Given the description of an element on the screen output the (x, y) to click on. 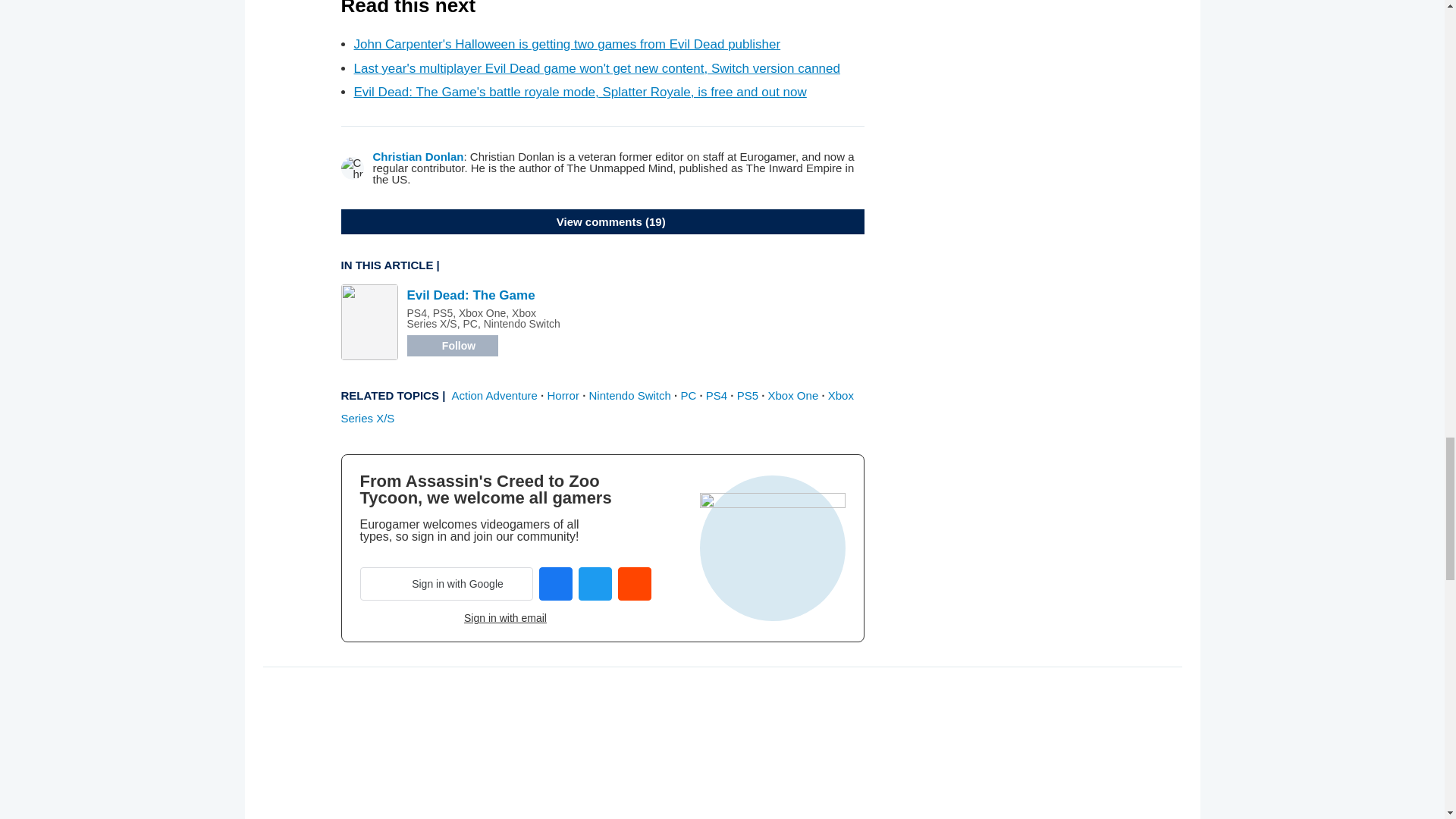
Christian Donlan (418, 155)
